Given the description of an element on the screen output the (x, y) to click on. 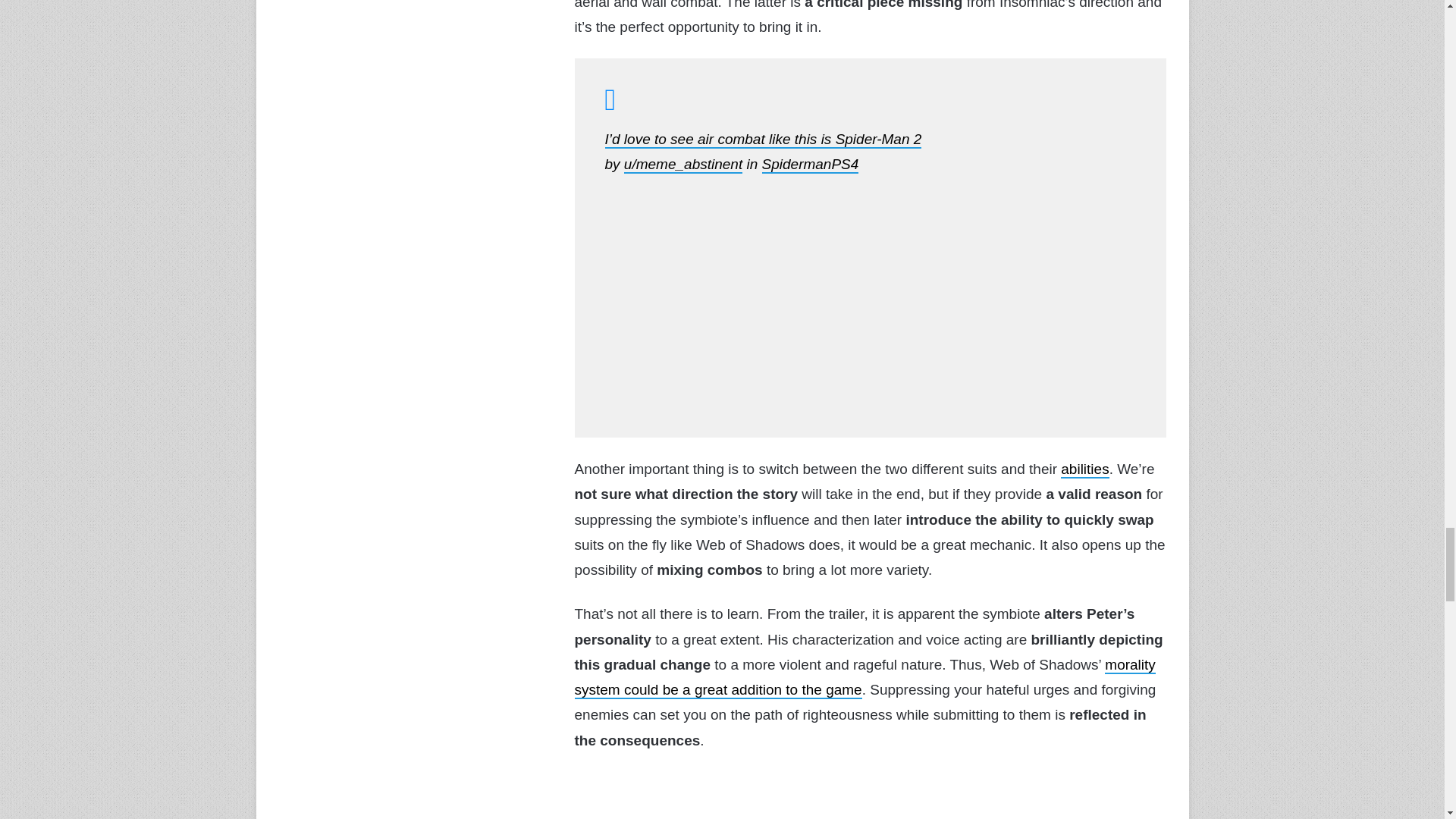
abilities (1084, 469)
